Given the description of an element on the screen output the (x, y) to click on. 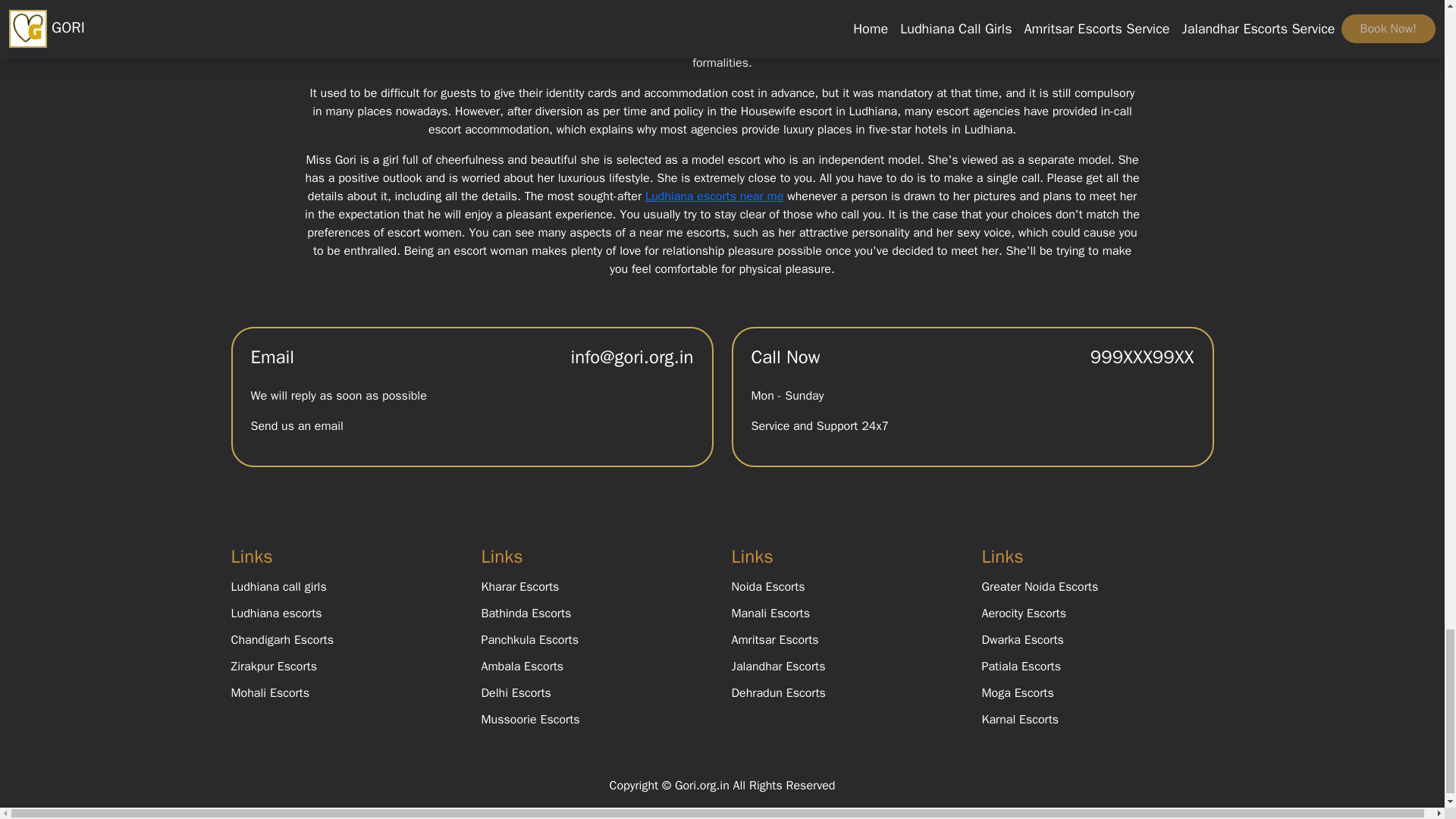
Panchkula Escorts (529, 639)
Dwarka Escorts (1021, 639)
Manali Escorts (769, 613)
Kharar Escorts (519, 586)
Amritsar Escorts (774, 639)
Zirakpur Escorts (272, 666)
Ambala Escorts (521, 666)
Noida Escorts (767, 586)
Aerocity Escorts (1023, 613)
Jalandhar Escorts (777, 666)
Mohali Escorts (269, 693)
Greater Noida Escorts (1039, 586)
Bathinda Escorts (525, 613)
Ludhiana escorts (275, 613)
Karnal Escorts (1019, 719)
